Given the description of an element on the screen output the (x, y) to click on. 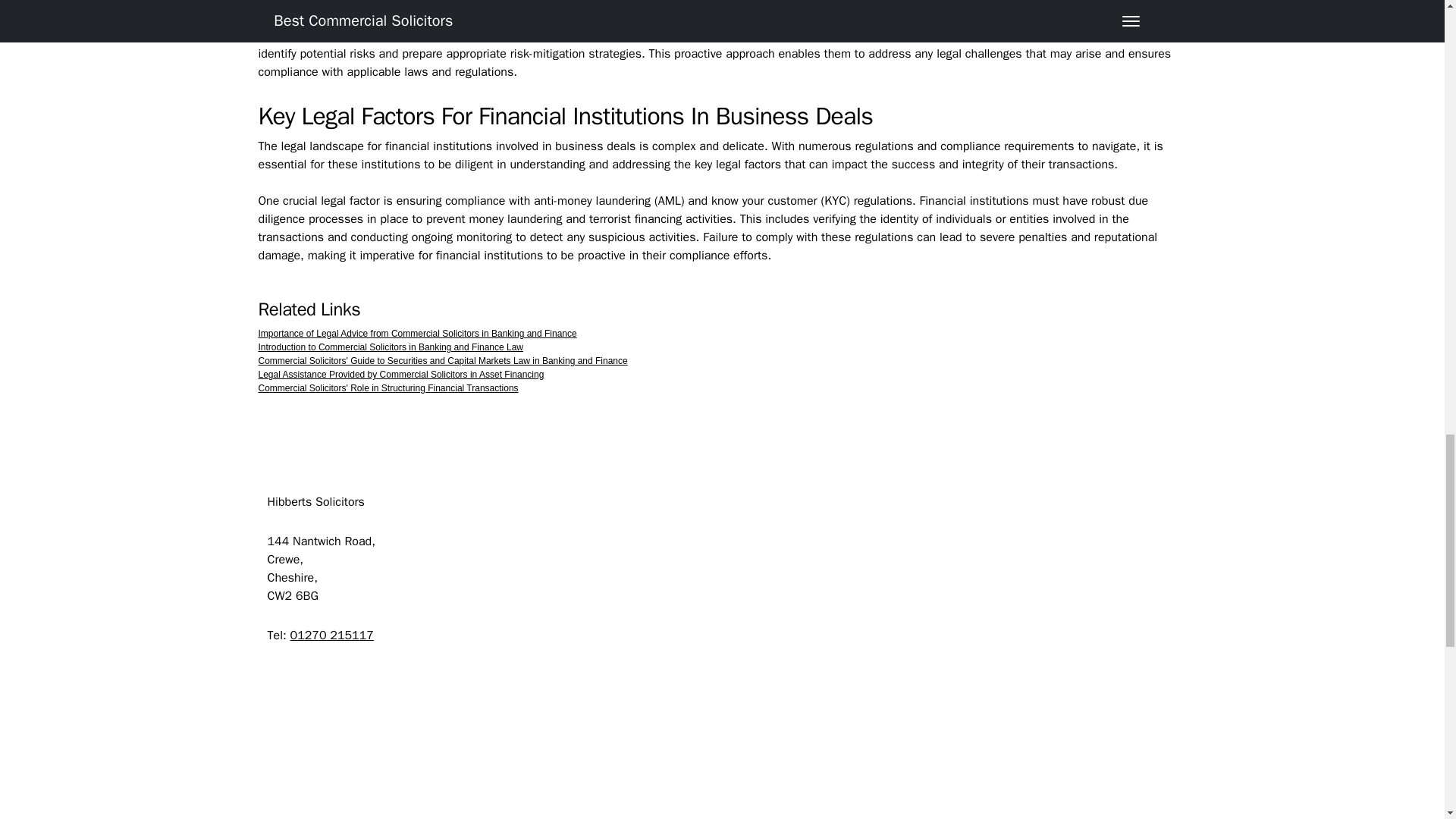
01270 215117 (331, 635)
